Given the description of an element on the screen output the (x, y) to click on. 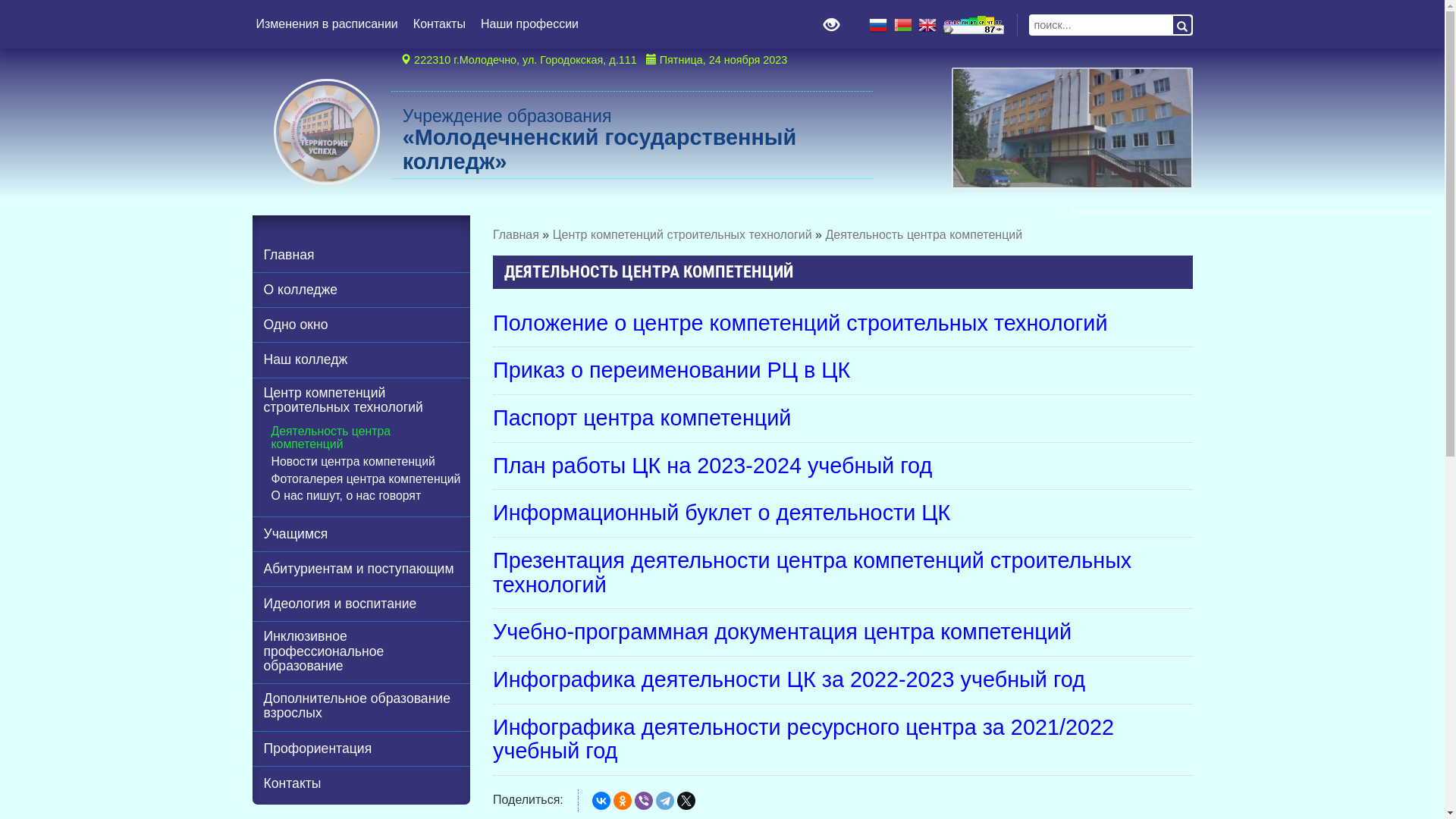
Twitter Element type: hover (686, 800)
Telegram Element type: hover (664, 800)
Viber Element type: hover (643, 800)
